Given the description of an element on the screen output the (x, y) to click on. 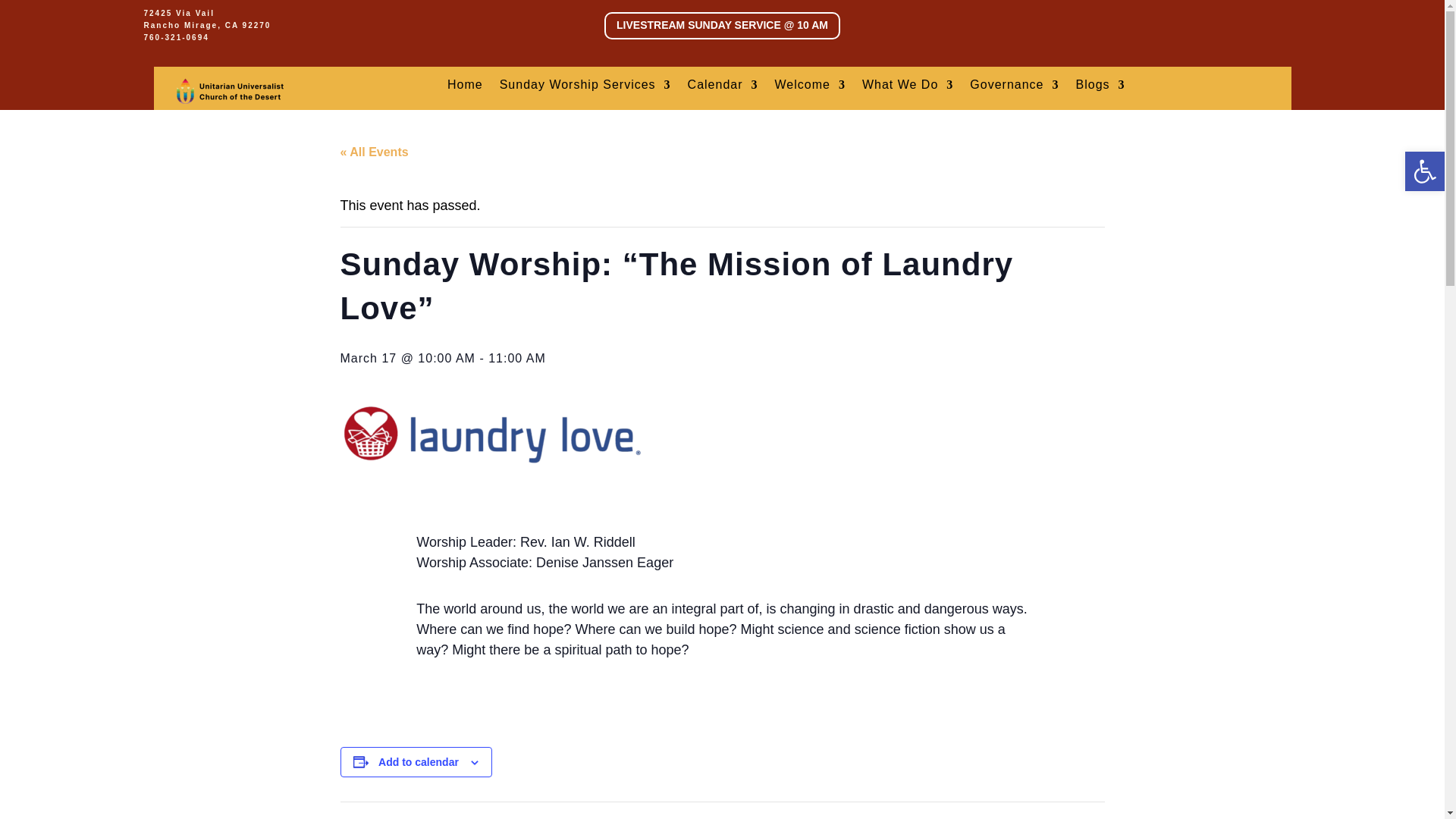
Welcome (809, 87)
Home (464, 87)
Accessibility Tools (1424, 170)
Governance (1013, 87)
Blogs (1099, 87)
Calendar (722, 87)
logo 4 (229, 91)
What We Do (907, 87)
Add to calendar (418, 761)
Sunday Worship Services (585, 87)
